Given the description of an element on the screen output the (x, y) to click on. 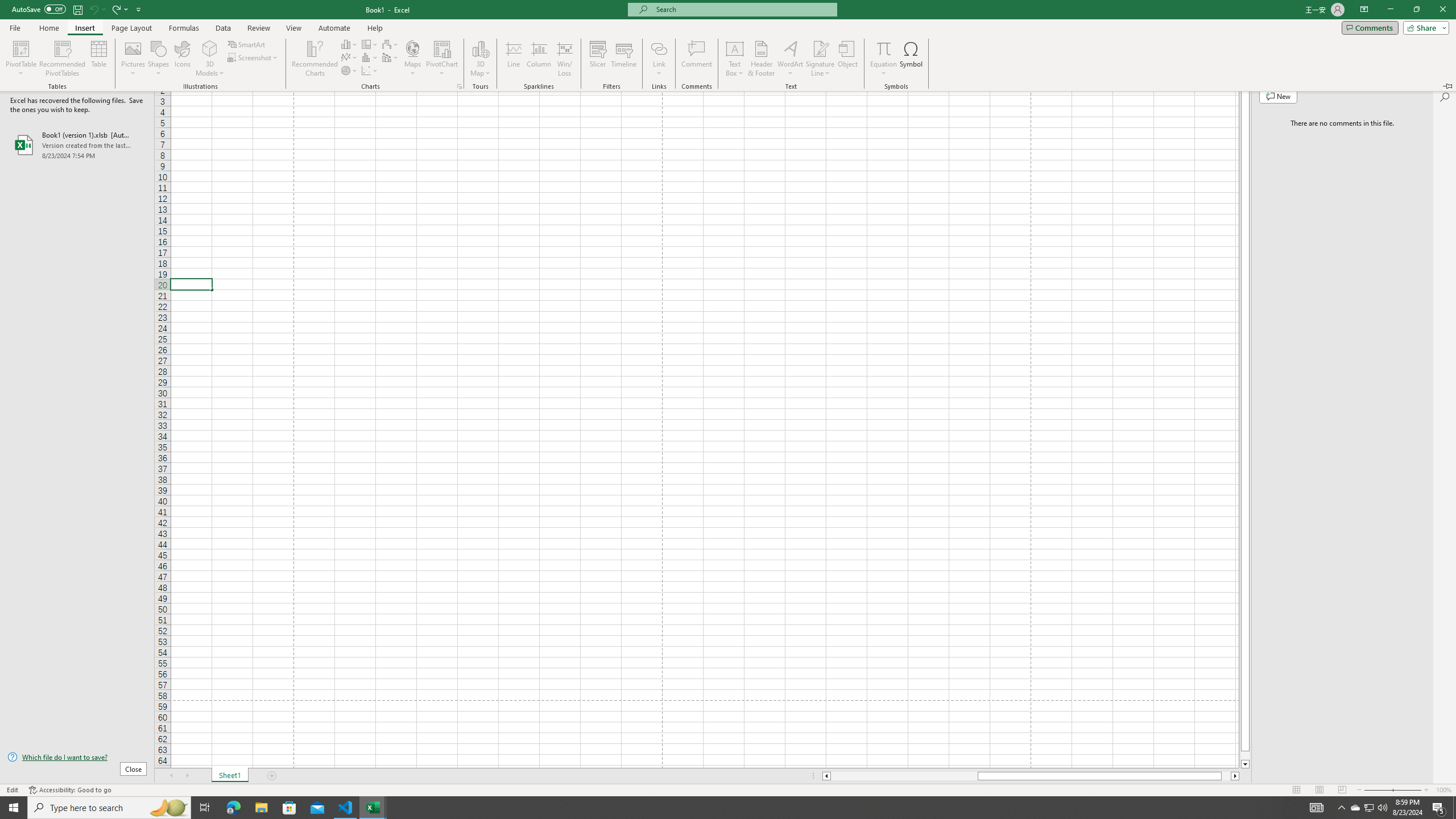
AutomationID: 4105 (1355, 807)
Show desktop (1316, 807)
Visual Studio Code - 1 running window (1454, 807)
Task View (345, 807)
